Given the description of an element on the screen output the (x, y) to click on. 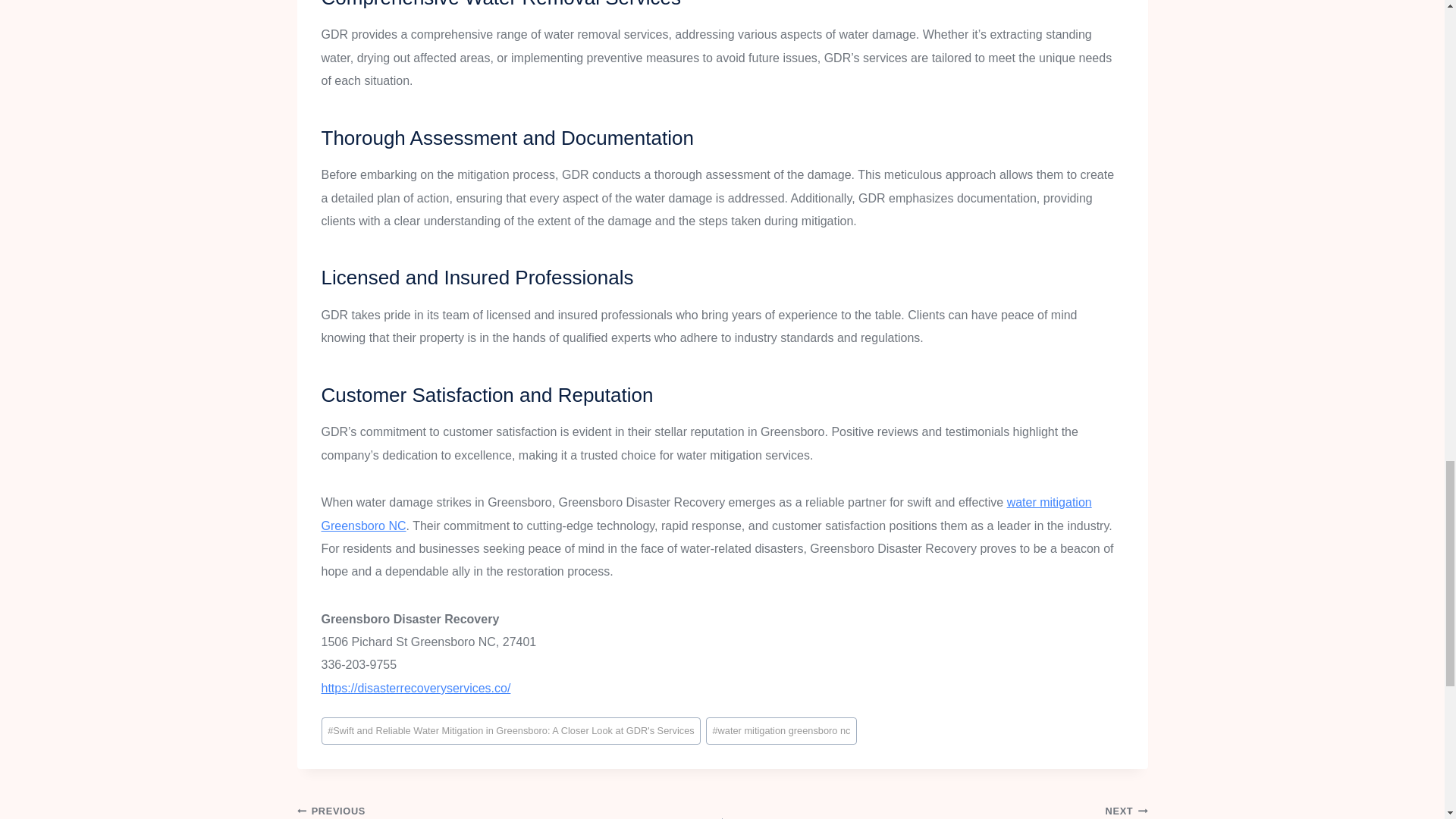
water mitigation greensboro nc (781, 731)
water mitigation Greensboro NC (706, 513)
